Given the description of an element on the screen output the (x, y) to click on. 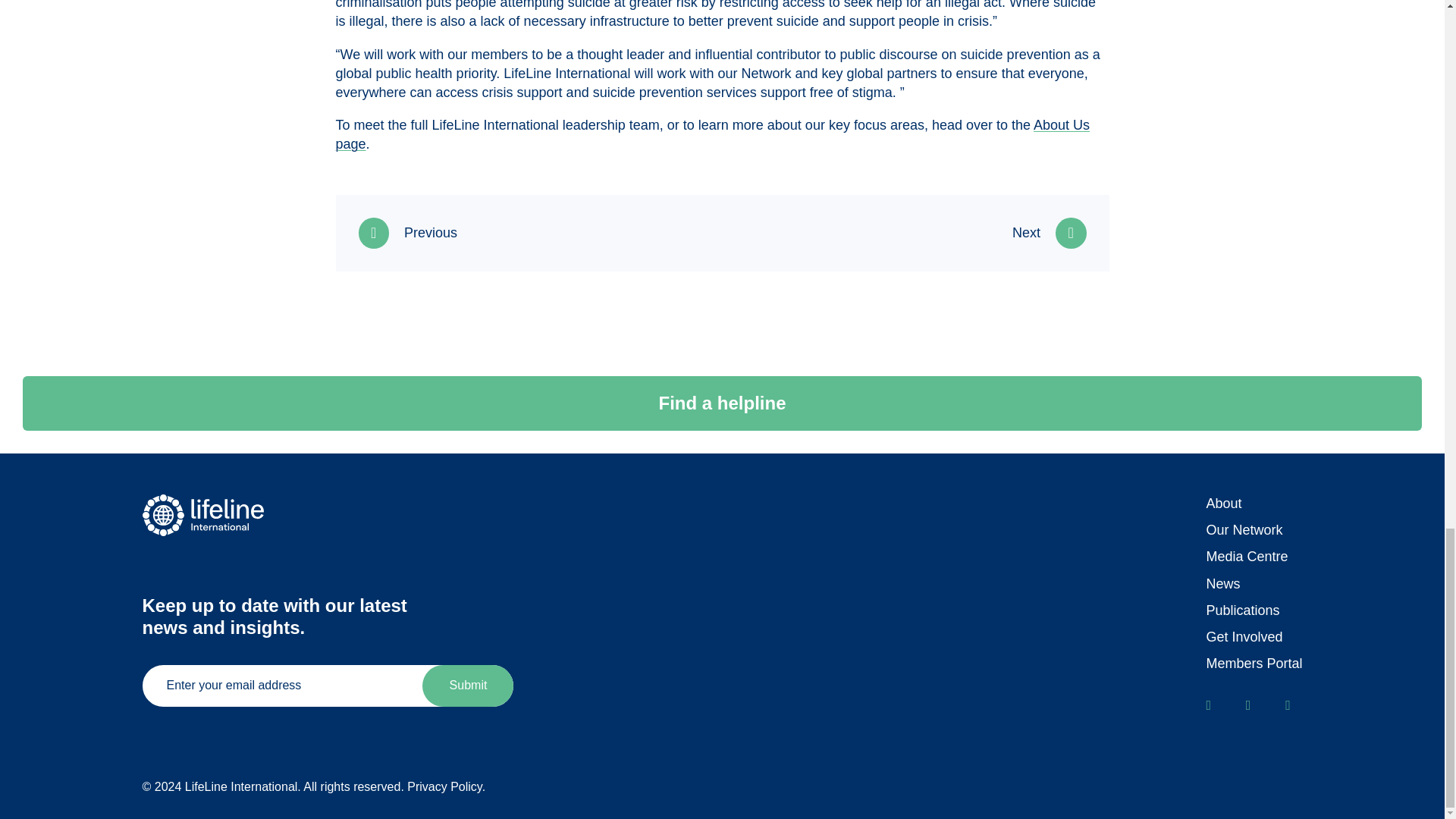
About Us page (711, 134)
News (1222, 583)
Members Portal (1253, 663)
Previous (407, 232)
LifeLine International (210, 515)
Next (1048, 232)
Submit (467, 685)
Our Network (1243, 529)
LifeLine International (210, 515)
About (1223, 503)
